Given the description of an element on the screen output the (x, y) to click on. 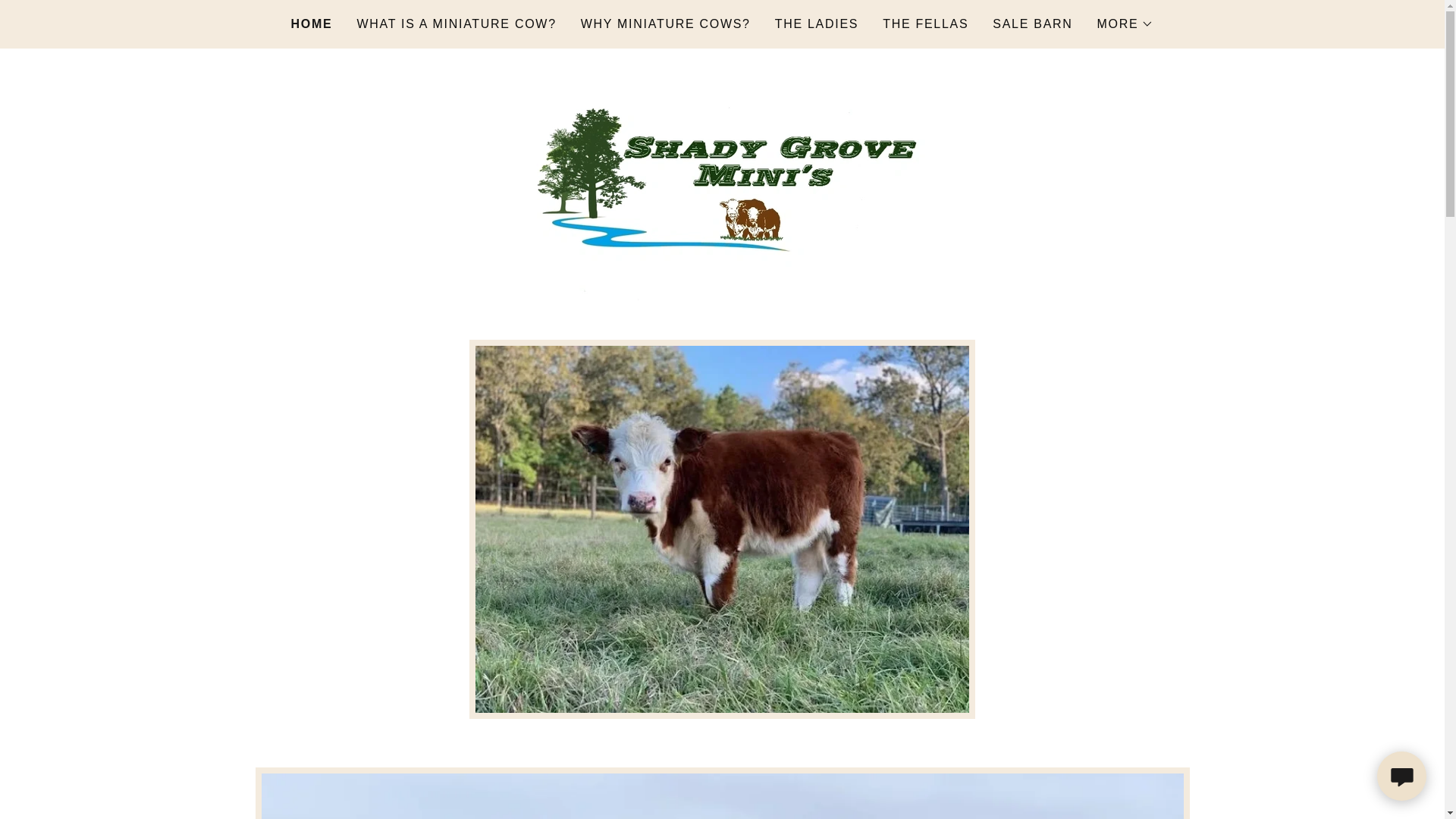
WHAT IS A MINIATURE COW? (456, 23)
THE LADIES (816, 23)
WHY MINIATURE COWS? (665, 23)
HOME (312, 24)
MORE (1125, 24)
SALE BARN (1032, 23)
Shady Grove Mini's (721, 192)
THE FELLAS (924, 23)
